Given the description of an element on the screen output the (x, y) to click on. 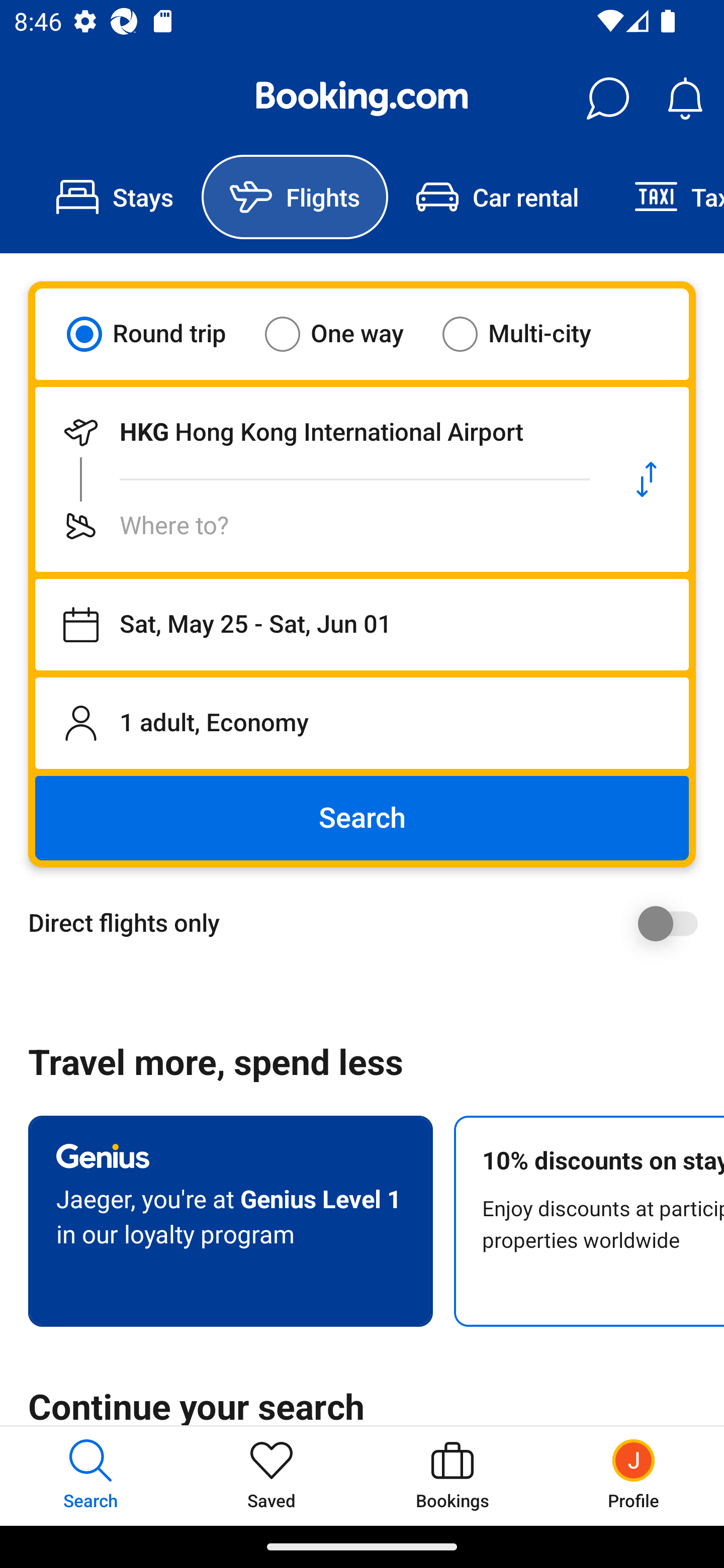
Messages (607, 98)
Notifications (685, 98)
Stays (114, 197)
Flights (294, 197)
Car rental (497, 197)
Taxi (665, 197)
One way (346, 333)
Multi-city (528, 333)
Departing from HKG Hong Kong International Airport (319, 432)
Swap departure location and destination (646, 479)
Flying to  (319, 525)
Departing on Sat, May 25, returning on Sat, Jun 01 (361, 624)
1 adult, Economy (361, 722)
Search (361, 818)
Direct flights only (369, 923)
Saved (271, 1475)
Bookings (452, 1475)
Profile (633, 1475)
